Given the description of an element on the screen output the (x, y) to click on. 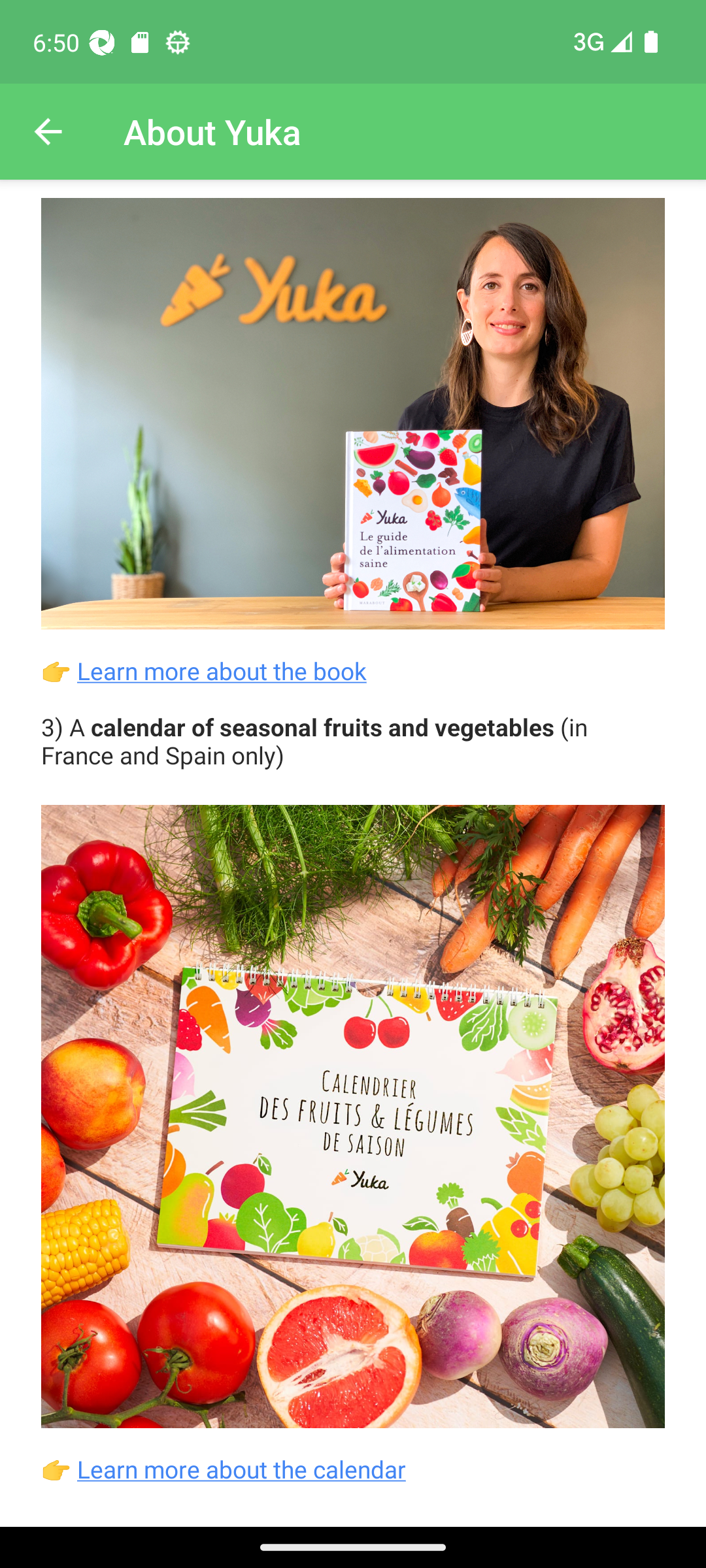
Navigate up (48, 131)
